Given the description of an element on the screen output the (x, y) to click on. 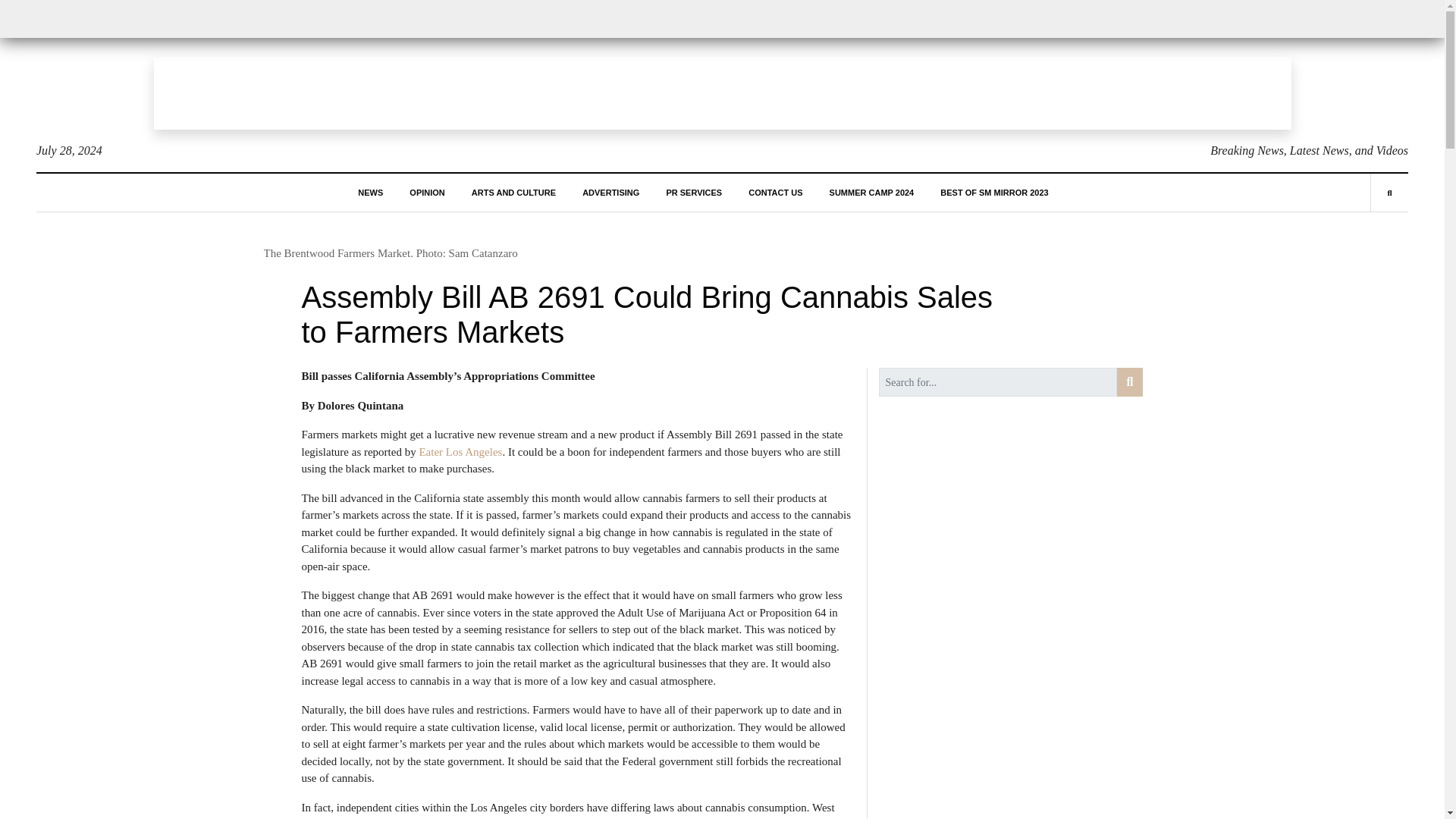
ARTS AND CULTURE (513, 192)
OPINION (426, 192)
CONTACT US (775, 192)
BEST OF SM MIRROR 2023 (994, 192)
PR SERVICES (693, 192)
NEWS (370, 192)
Eater Los Angeles (460, 451)
ADVERTISING (610, 192)
SUMMER CAMP 2024 (871, 192)
